Given the description of an element on the screen output the (x, y) to click on. 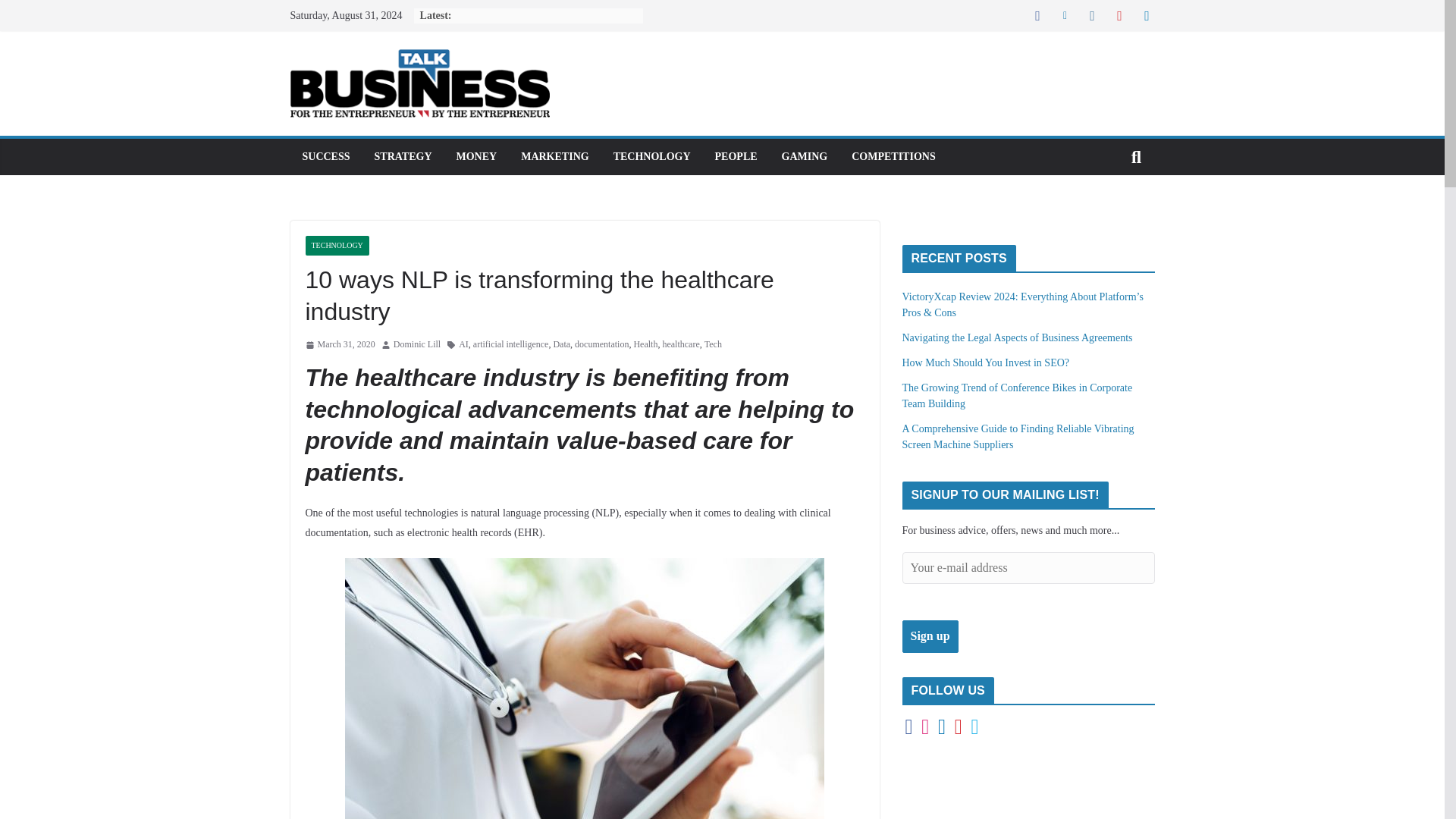
healthcare (680, 344)
Health (645, 344)
GAMING (804, 156)
MARKETING (554, 156)
9:11 am (339, 344)
COMPETITIONS (892, 156)
artificial intelligence (510, 344)
PEOPLE (735, 156)
Tech (713, 344)
documentation (601, 344)
